Given the description of an element on the screen output the (x, y) to click on. 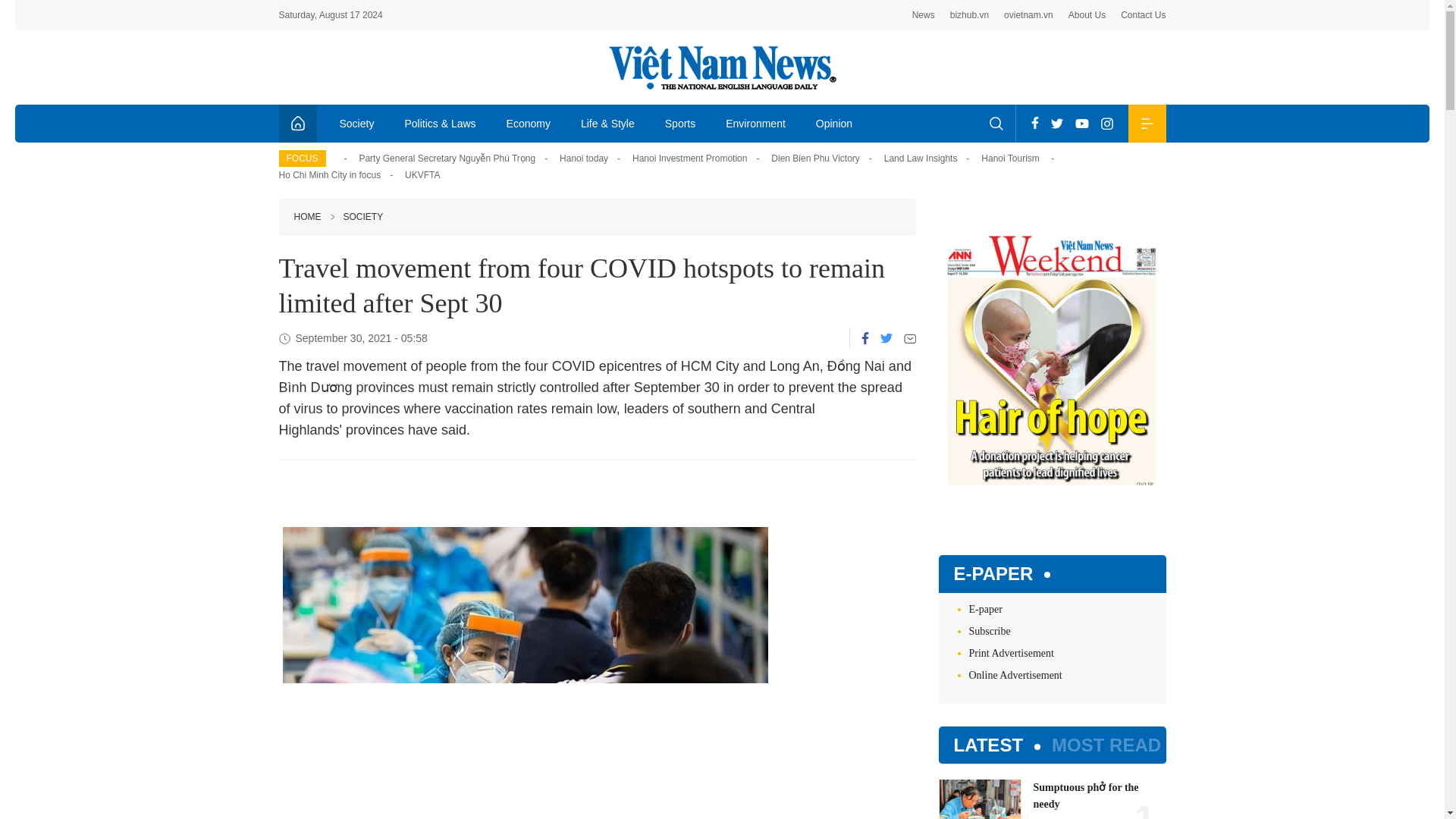
ovietnam.vn (1028, 15)
bizhub.vn (969, 15)
Facebook (1035, 123)
Economy (529, 123)
Youtube (1081, 122)
About Us (1086, 15)
Email (909, 338)
Contact Us (1143, 15)
News (923, 15)
Society (357, 123)
